Given the description of an element on the screen output the (x, y) to click on. 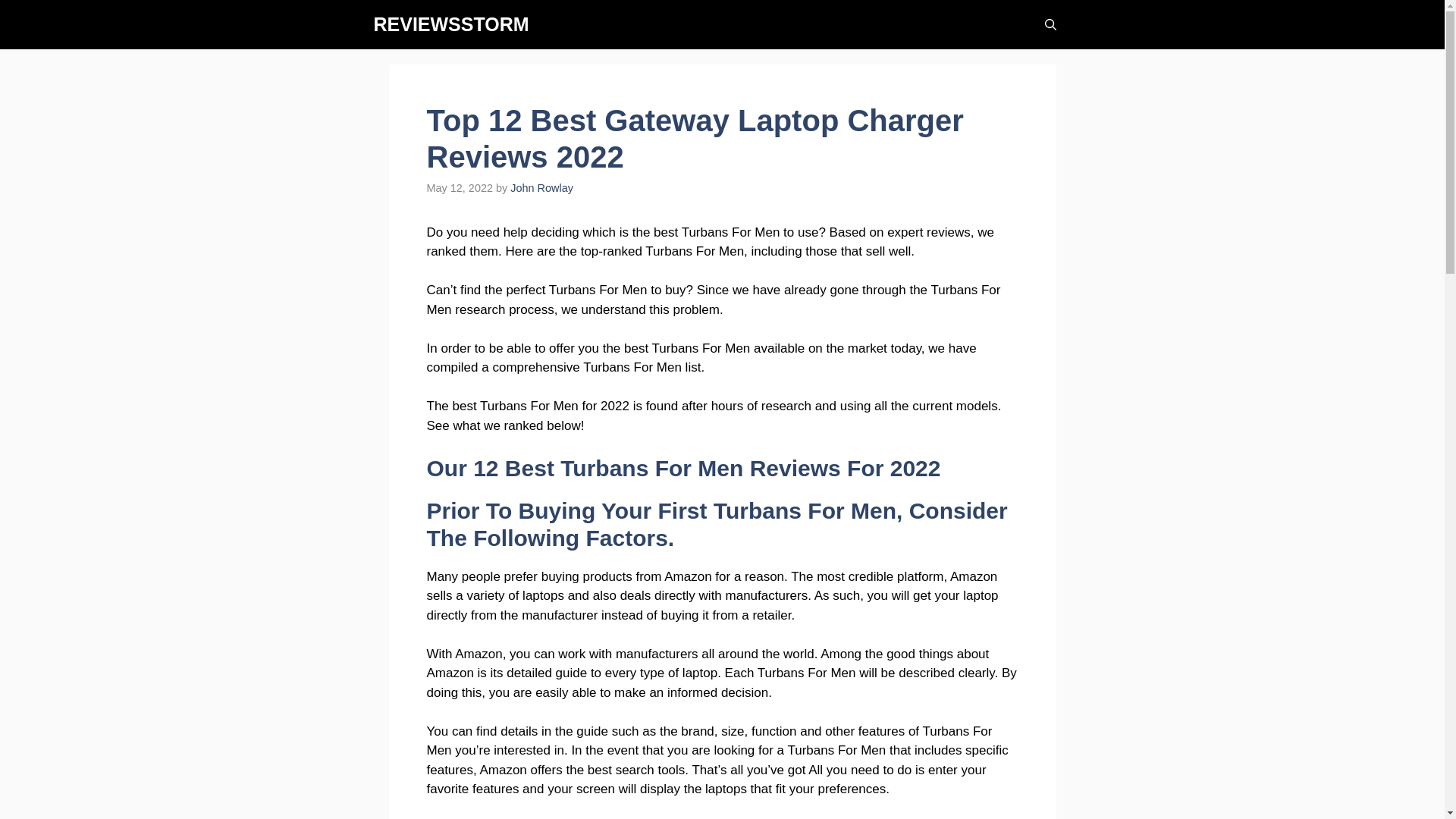
REVIEWSSTORM (450, 24)
View all posts by John Rowlay (542, 187)
John Rowlay (542, 187)
